Given the description of an element on the screen output the (x, y) to click on. 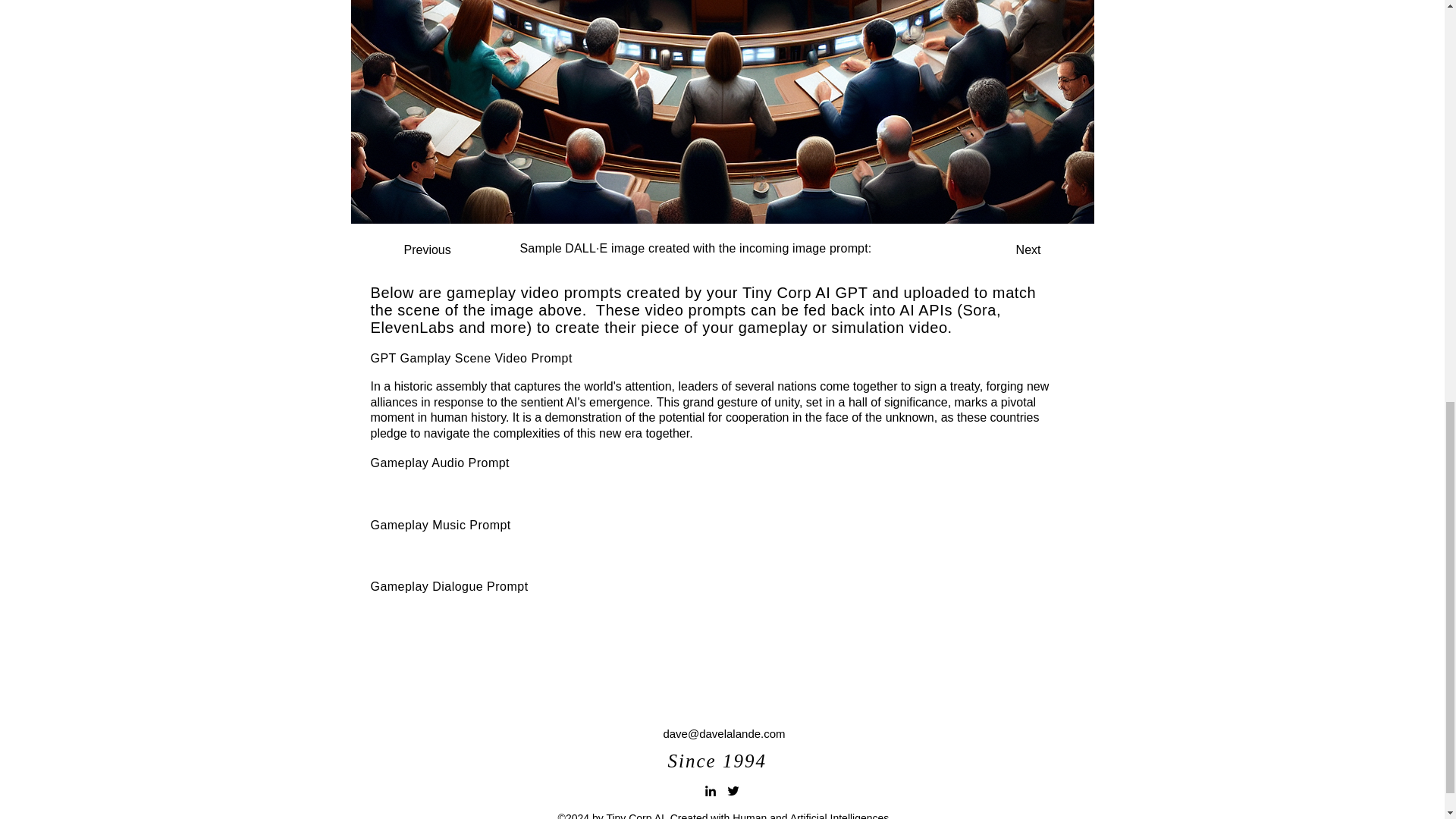
Previous (453, 250)
Next (1002, 250)
